Given the description of an element on the screen output the (x, y) to click on. 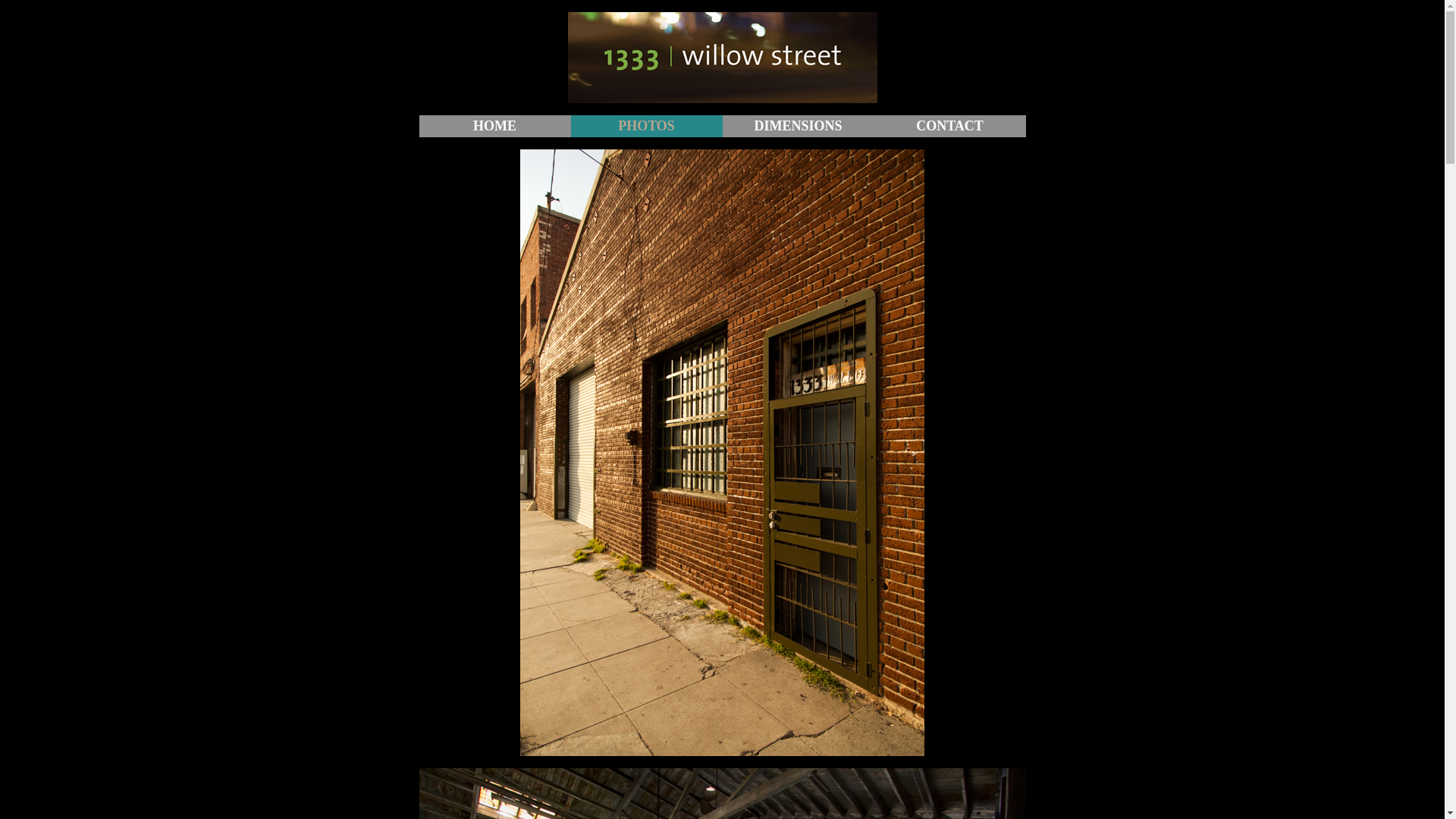
DIMENSIONS Element type: text (797, 126)
CONTACT Element type: text (949, 126)
PHOTOS Element type: text (645, 126)
HOME Element type: text (494, 126)
